Given the description of an element on the screen output the (x, y) to click on. 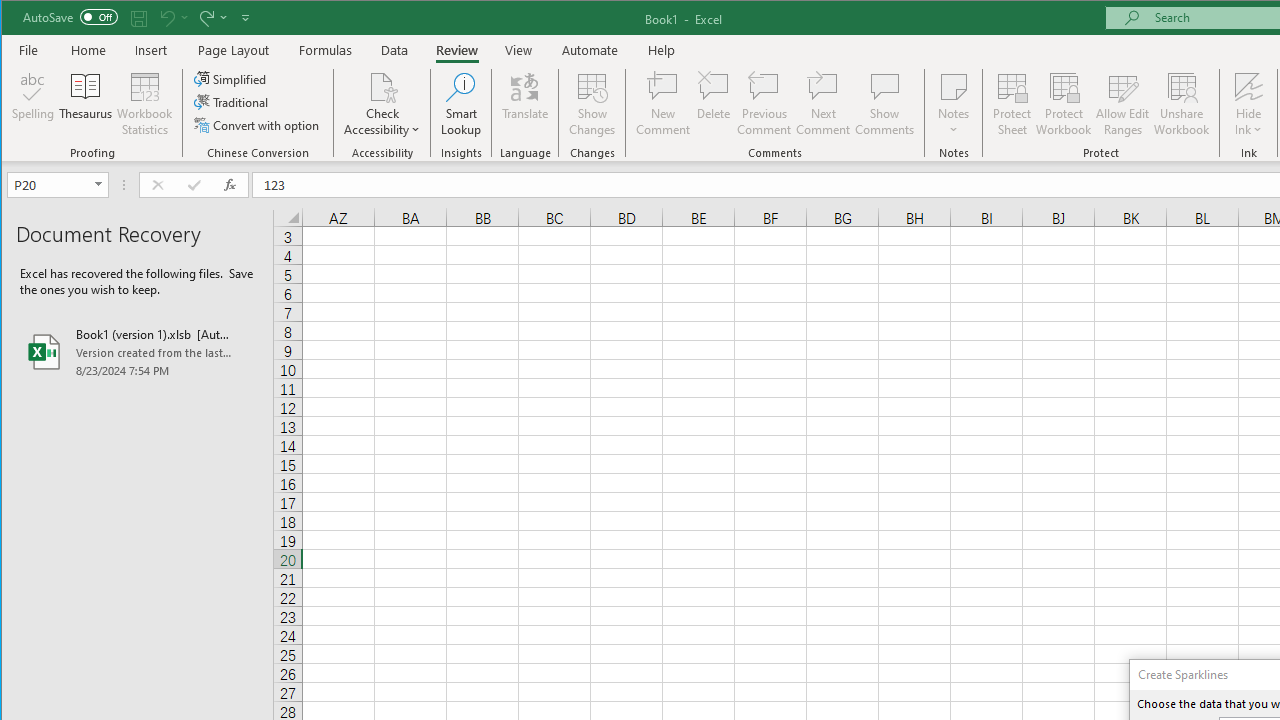
Spelling... (33, 104)
New Comment (662, 104)
Page Layout (233, 50)
Undo (166, 17)
System (19, 18)
System (19, 18)
Formulas (326, 50)
Workbook Statistics (145, 104)
Customize Quick Access Toolbar (245, 17)
Traditional (232, 101)
Review (456, 50)
Smart Lookup (461, 104)
Show Comments (884, 104)
Simplified (231, 78)
AutoSave (70, 16)
